Given the description of an element on the screen output the (x, y) to click on. 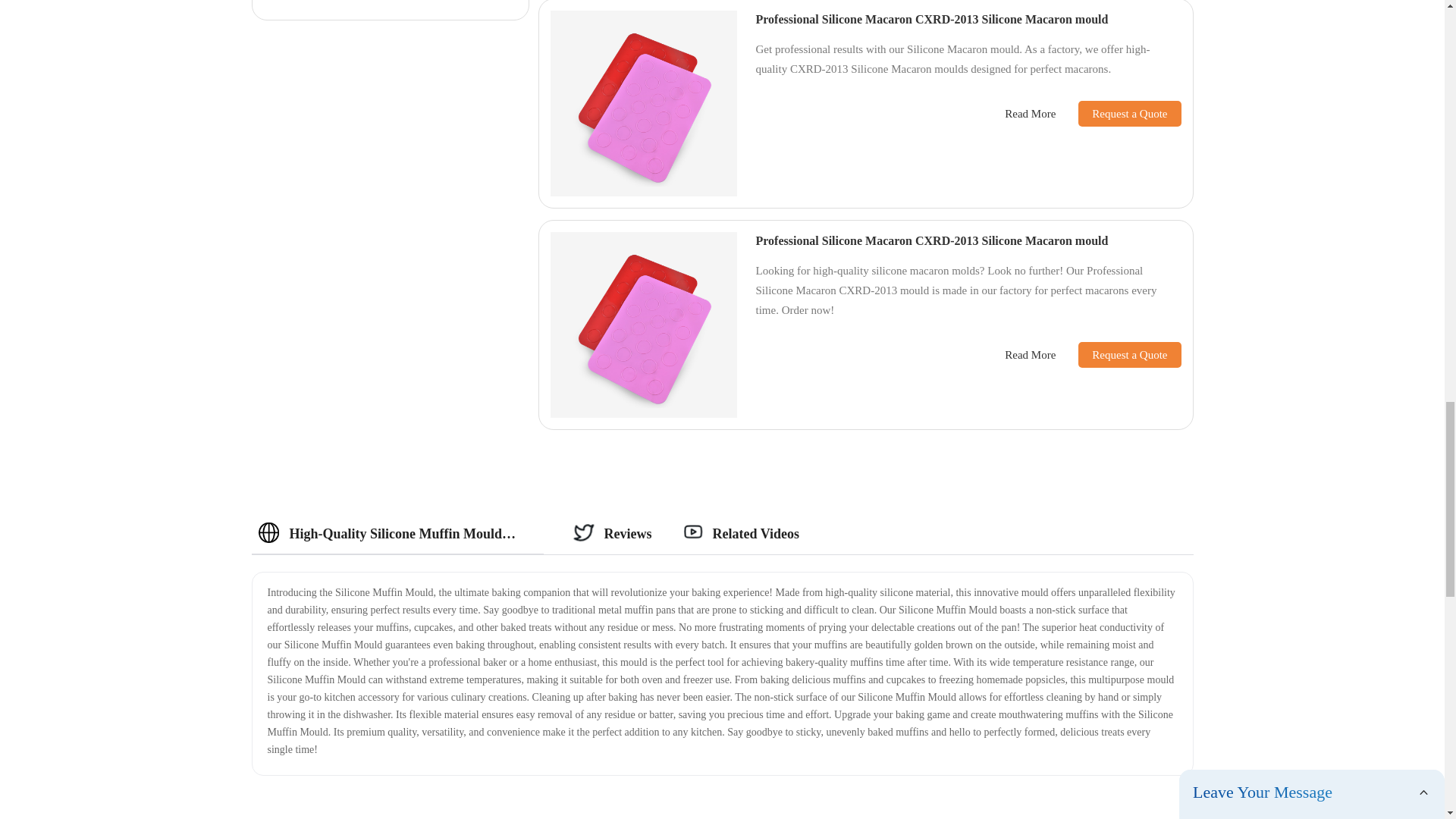
Request a Quote (1117, 113)
Read More (1029, 113)
